Given the description of an element on the screen output the (x, y) to click on. 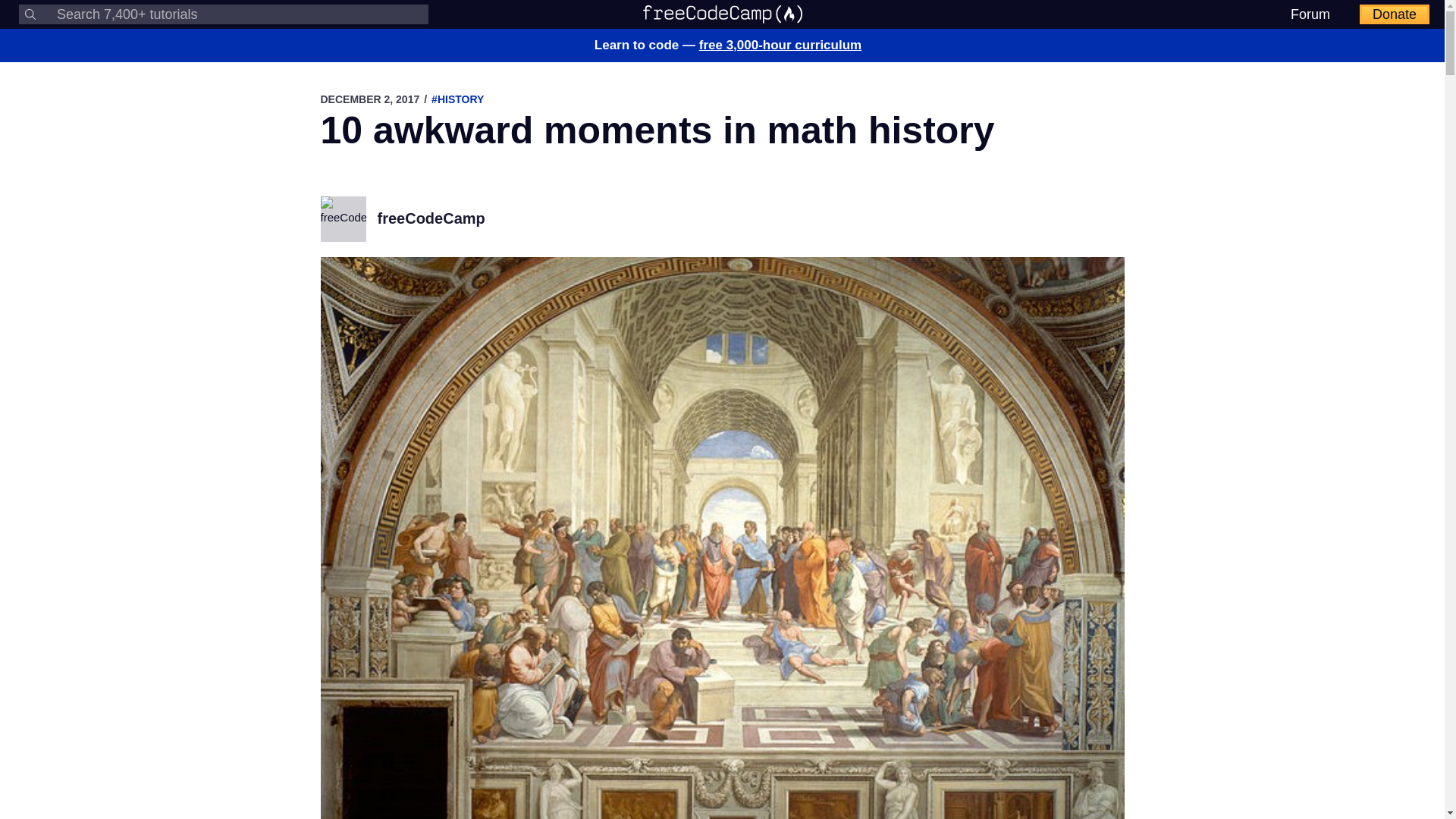
Forum (1309, 14)
freeCodeCamp (430, 217)
Donate (1394, 14)
Submit your search query (30, 14)
